Given the description of an element on the screen output the (x, y) to click on. 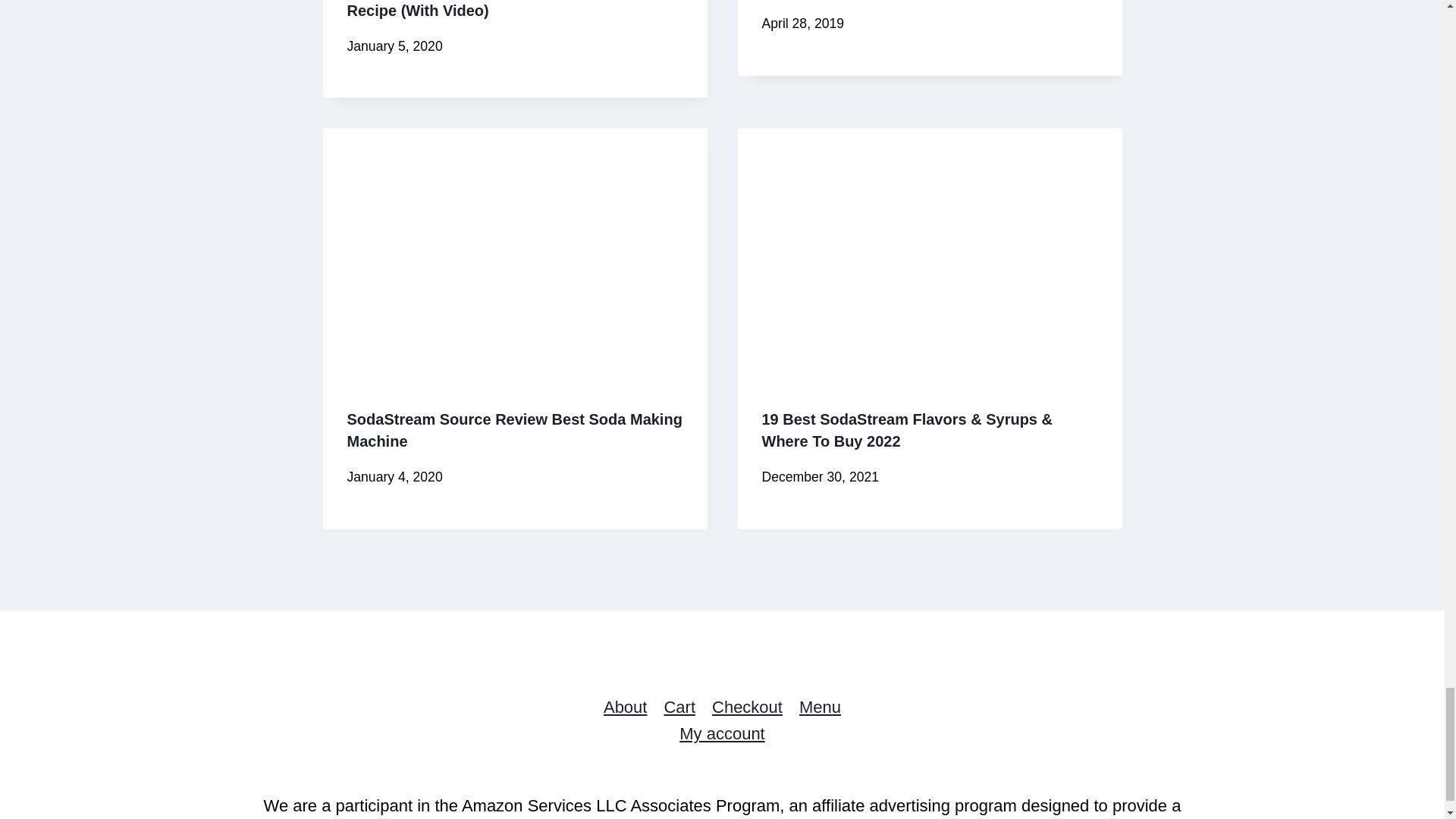
SodaStream Source Review Best Soda Making Machine (514, 430)
